Given the description of an element on the screen output the (x, y) to click on. 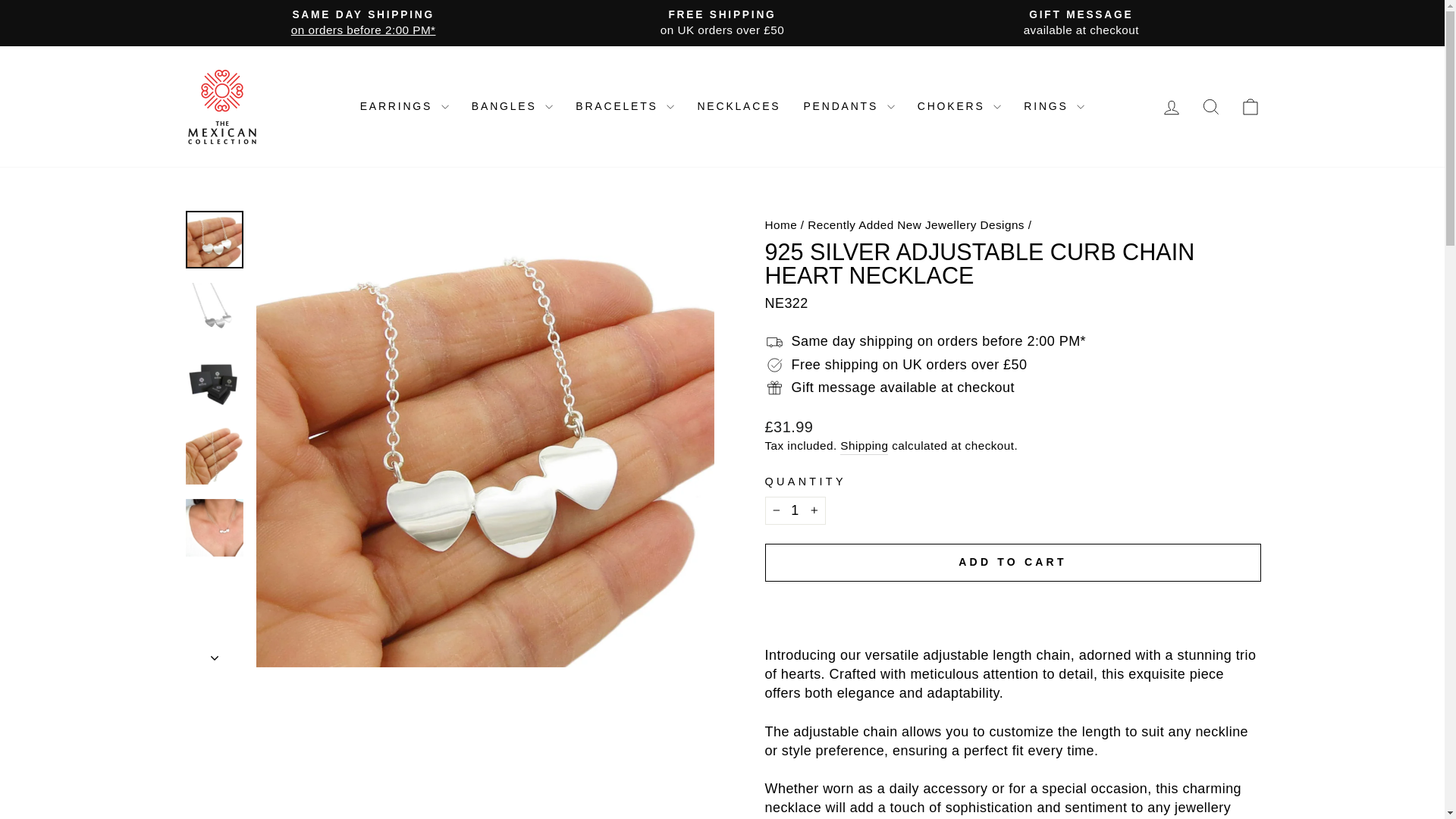
Back to the frontpage (780, 224)
ICON-BAG-MINIMAL (1249, 106)
1 (794, 510)
ACCOUNT (1170, 107)
ICON-SEARCH (1210, 106)
